Given the description of an element on the screen output the (x, y) to click on. 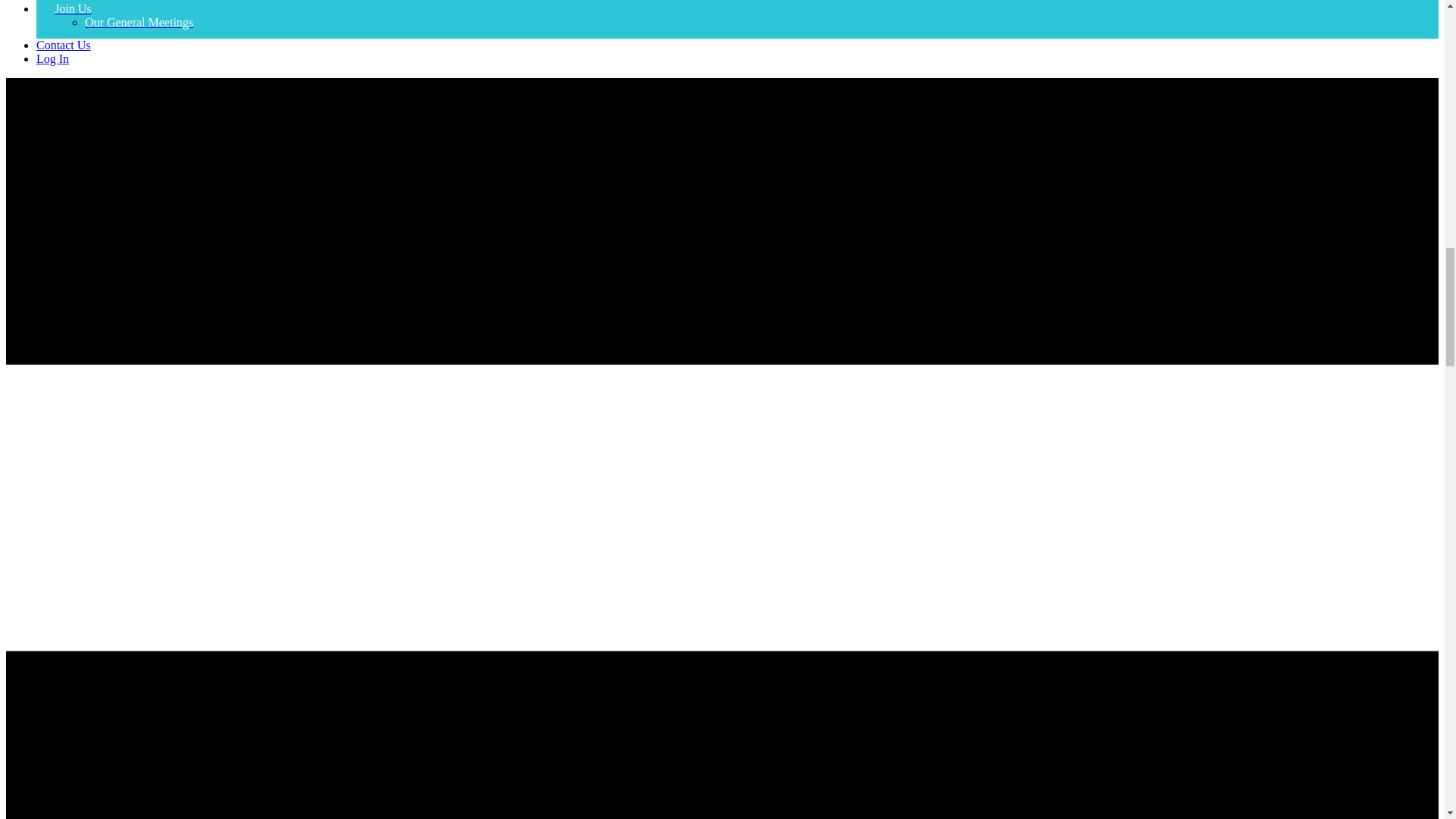
Our General Meetings (138, 21)
Contact Us (63, 44)
Log In (52, 58)
Join Us (72, 8)
